Given the description of an element on the screen output the (x, y) to click on. 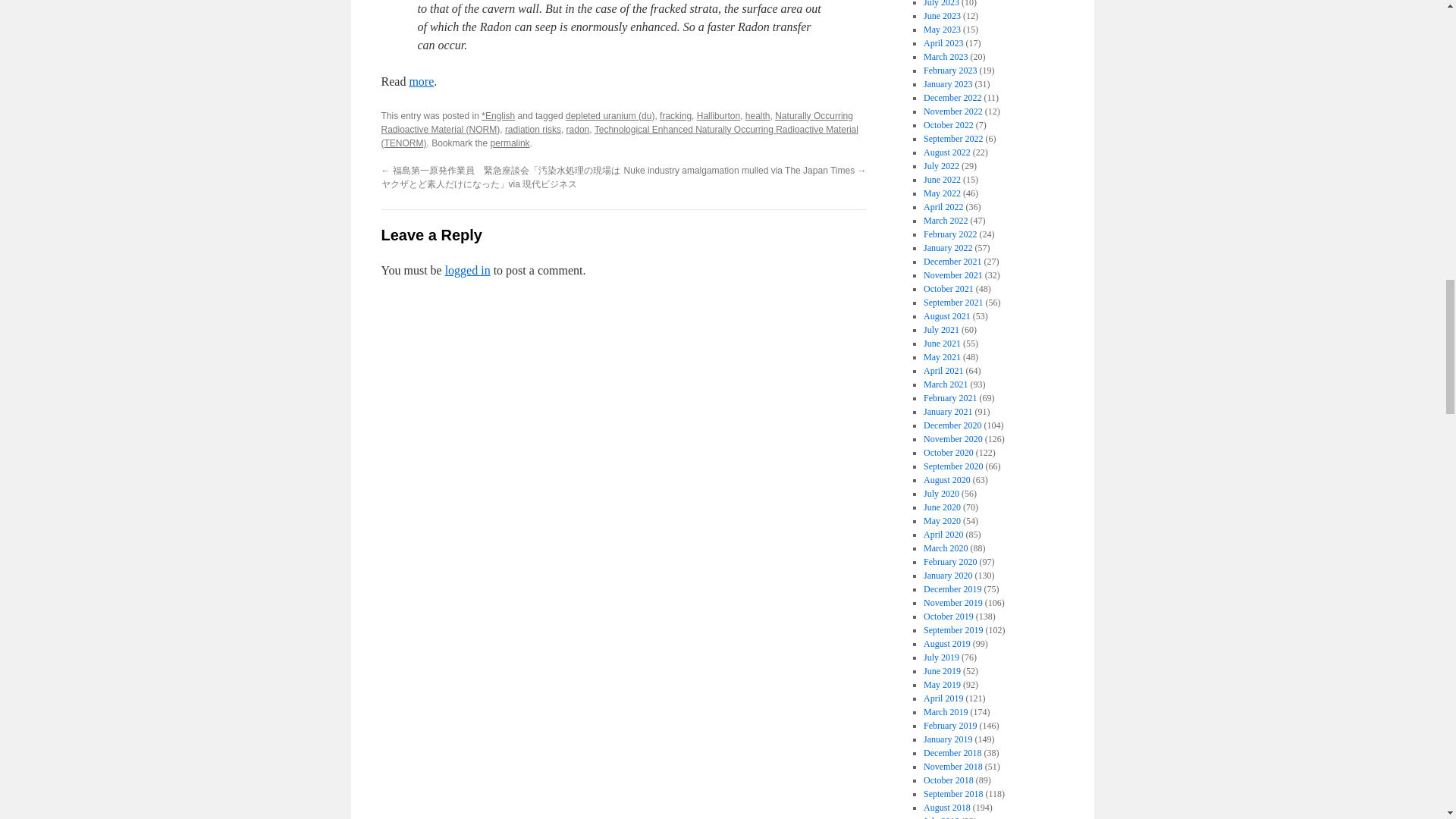
radon (577, 129)
health (757, 115)
fracking (675, 115)
Halliburton (718, 115)
permalink (509, 143)
more (421, 81)
radiation risks (532, 129)
